Given the description of an element on the screen output the (x, y) to click on. 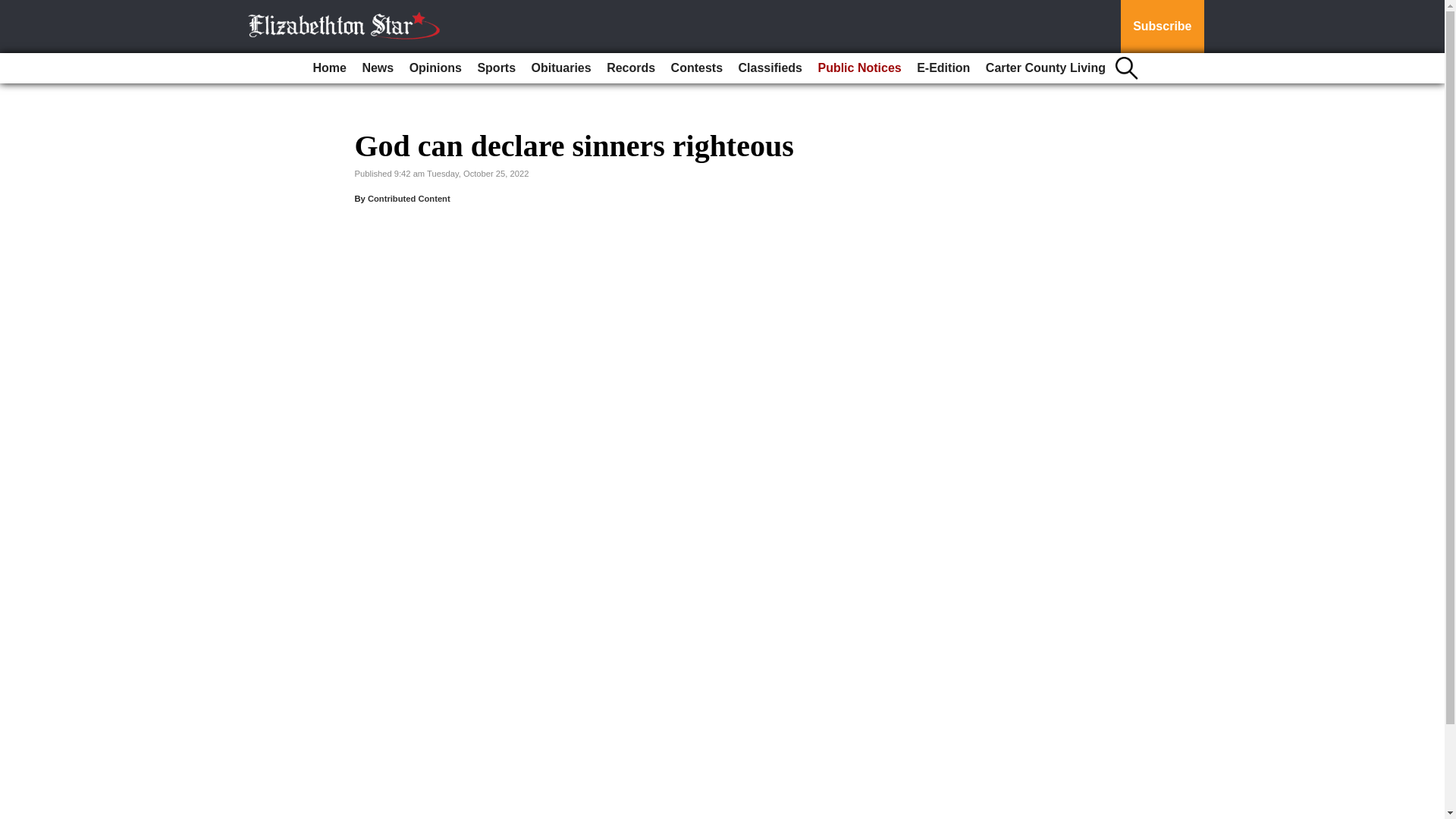
Contests (697, 68)
Public Notices (858, 68)
Records (630, 68)
Obituaries (560, 68)
Subscribe (1162, 26)
Go (13, 9)
Opinions (435, 68)
Classifieds (770, 68)
Carter County Living (1045, 68)
Home (328, 68)
E-Edition (943, 68)
News (376, 68)
Contributed Content (408, 198)
Sports (495, 68)
